Given the description of an element on the screen output the (x, y) to click on. 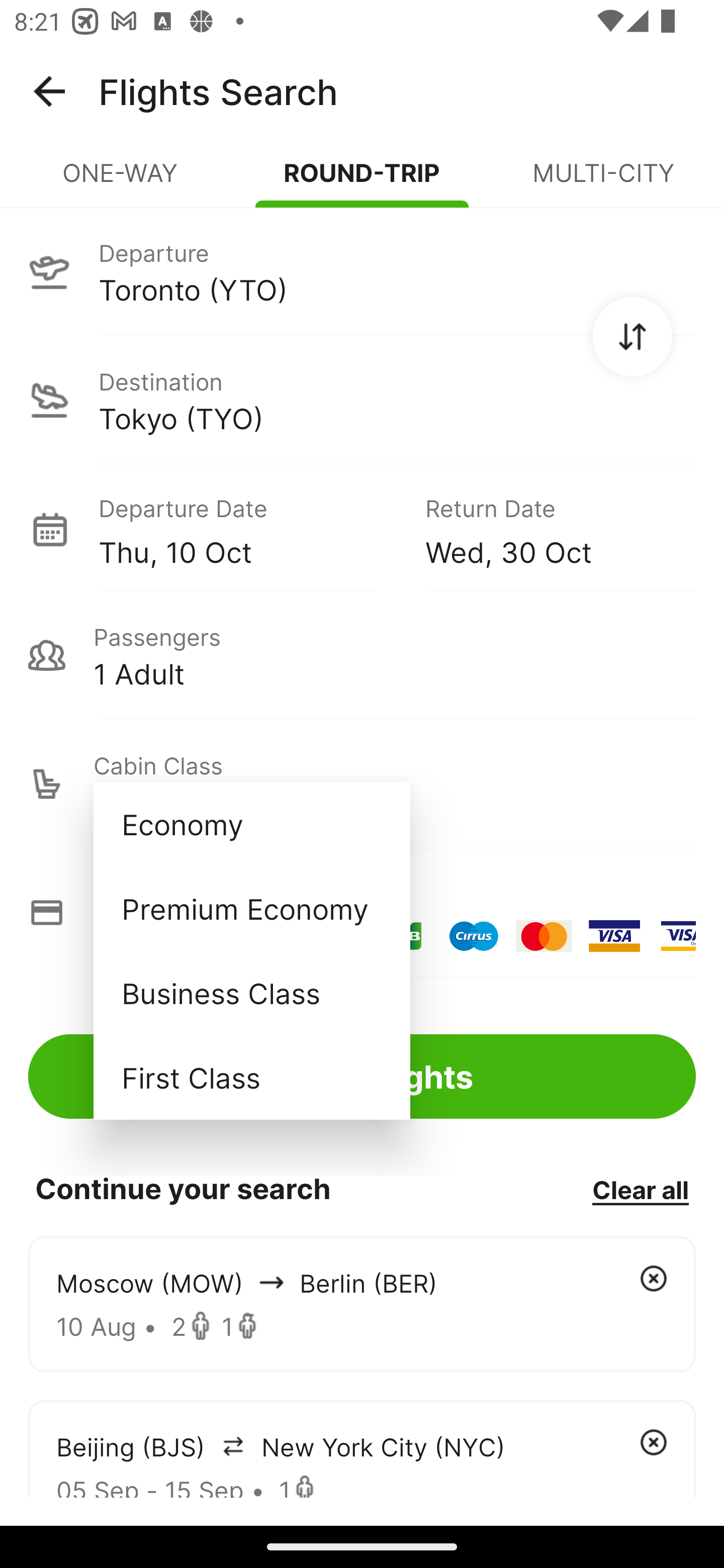
Economy (251, 824)
Premium Economy (251, 908)
Business Class (251, 992)
First Class (251, 1076)
